Given the description of an element on the screen output the (x, y) to click on. 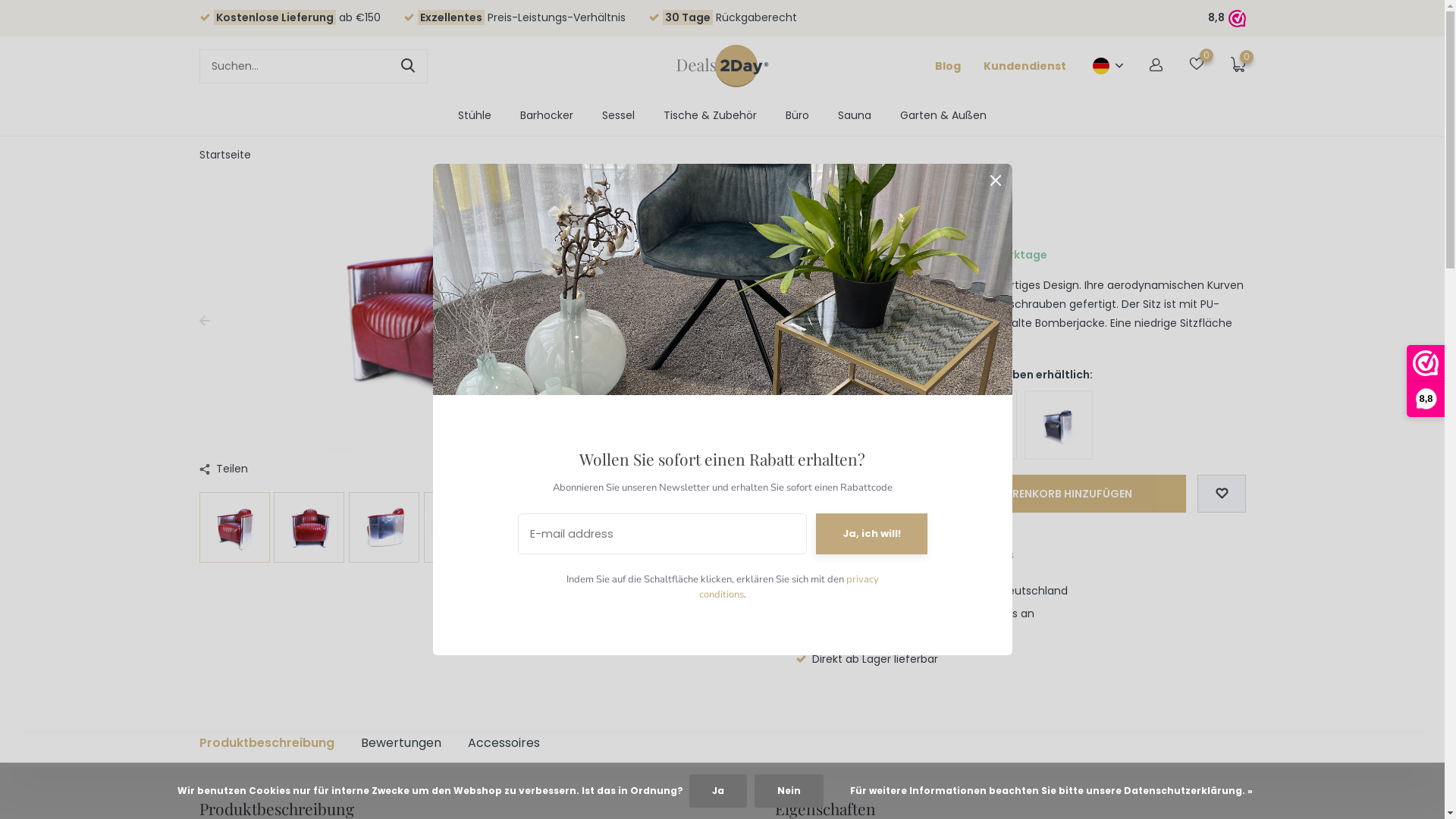
Bewertungen Element type: text (400, 742)
Mehr anzeigen Element type: text (898, 341)
Ja, ich will! Element type: text (871, 533)
Startseite Element type: text (224, 154)
8,8 Element type: text (1425, 380)
+ Element type: text (865, 493)
privacy conditions Element type: text (788, 586)
Alle anzeigen Sessel Element type: text (847, 216)
Blog Element type: text (947, 65)
Sauna Element type: text (854, 115)
Produktbeschreibung Element type: text (265, 742)
Accessoires Element type: text (503, 742)
Suchen Element type: hover (408, 65)
0 Element type: text (1237, 66)
8,8 Element type: text (1224, 18)
Ja Element type: text (717, 790)
Usuals Element type: text (965, 216)
Nein Element type: text (787, 790)
0 Element type: text (1196, 65)
Sessel Element type: text (618, 115)
Kundendienst Element type: text (1023, 65)
- Element type: text (811, 493)
Barhocker Element type: text (546, 115)
